Given the description of an element on the screen output the (x, y) to click on. 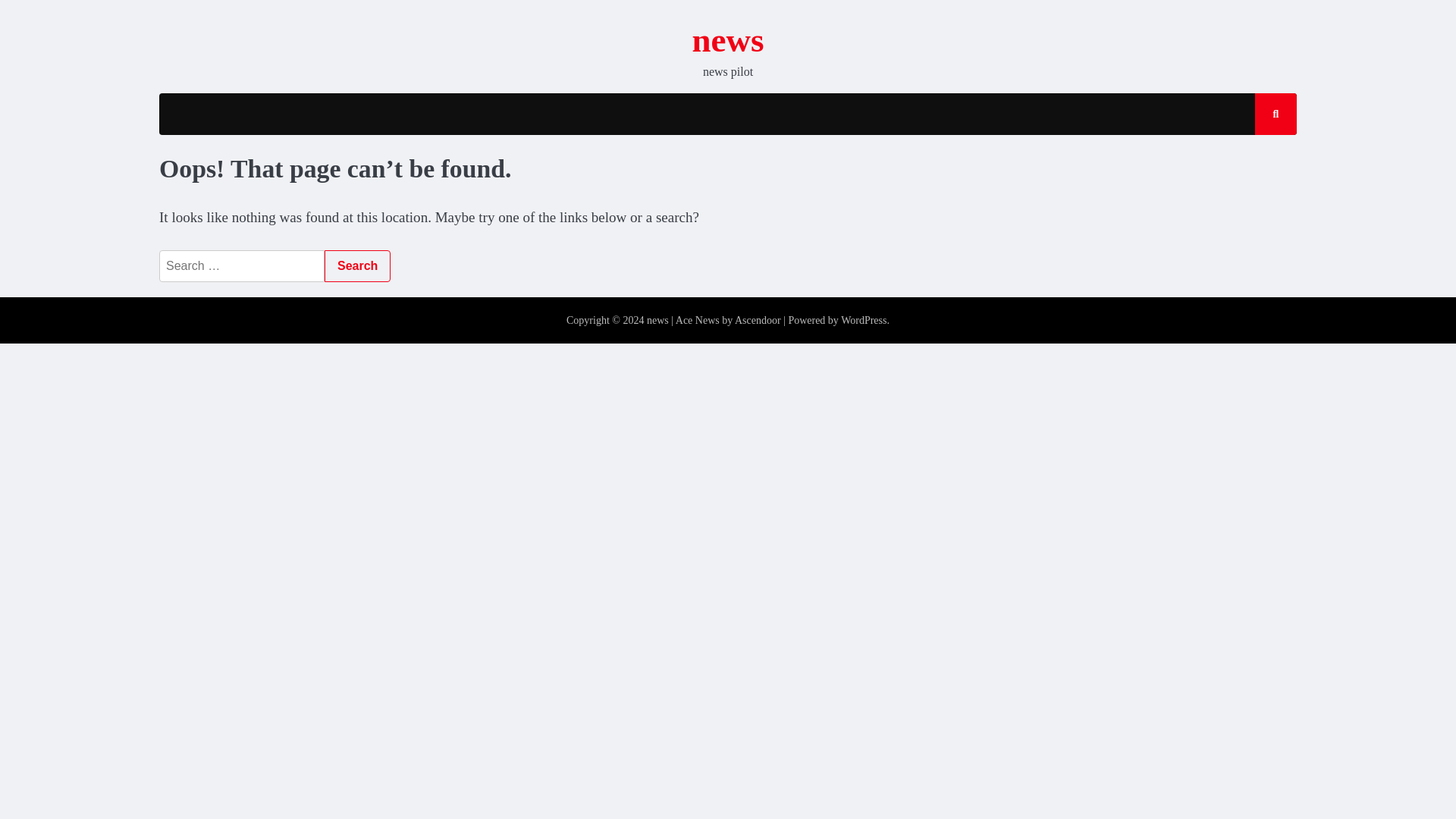
Search (357, 265)
Search (357, 265)
Ascendoor (757, 319)
Search (357, 265)
Search (1261, 158)
news (728, 39)
news (657, 319)
WordPress (863, 319)
